Given the description of an element on the screen output the (x, y) to click on. 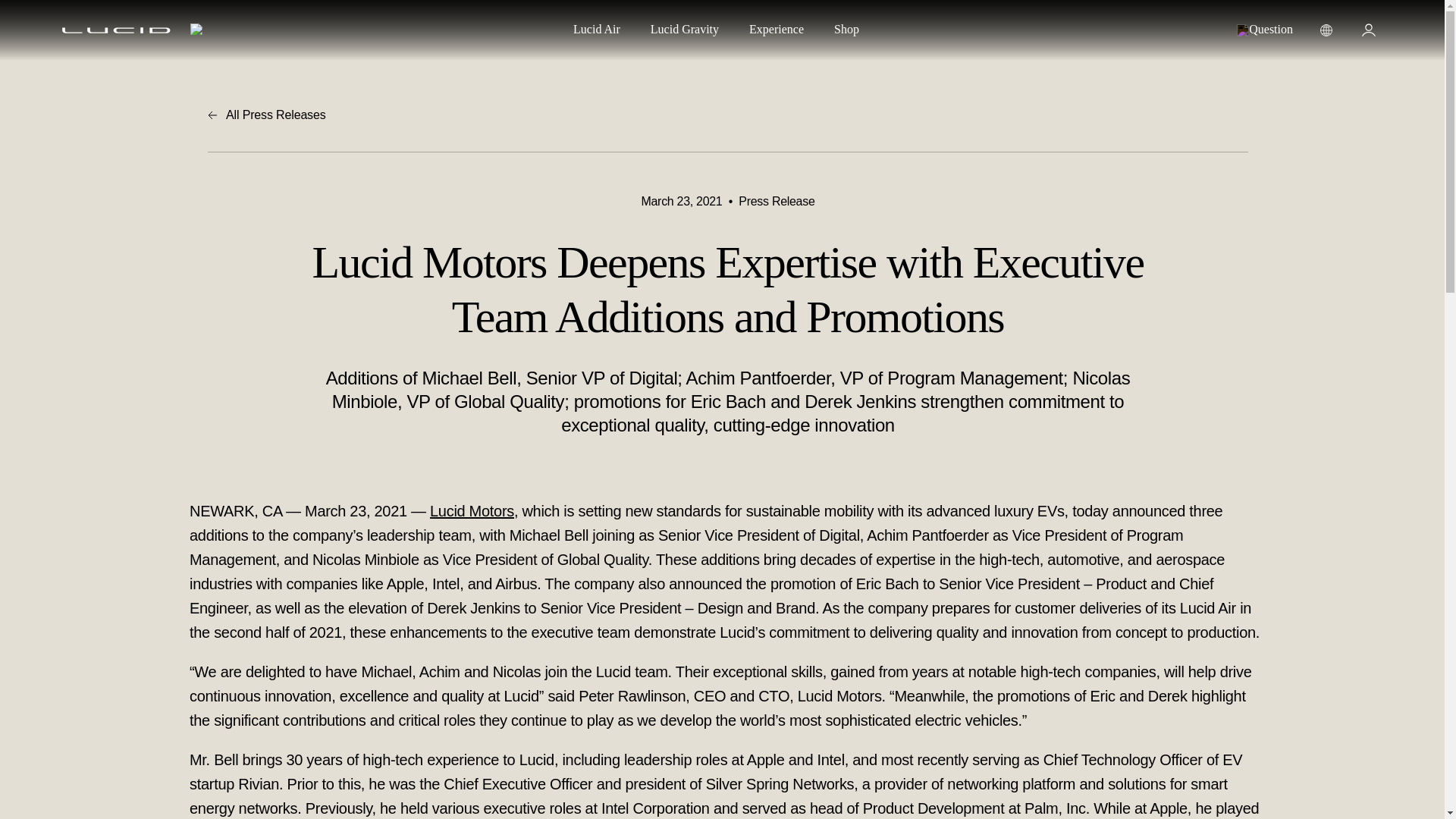
Lucid Air (596, 31)
All Press Releases (727, 115)
Lucid Motors (471, 510)
Experience (776, 31)
Shop (846, 31)
Lucid Gravity (684, 31)
